Given the description of an element on the screen output the (x, y) to click on. 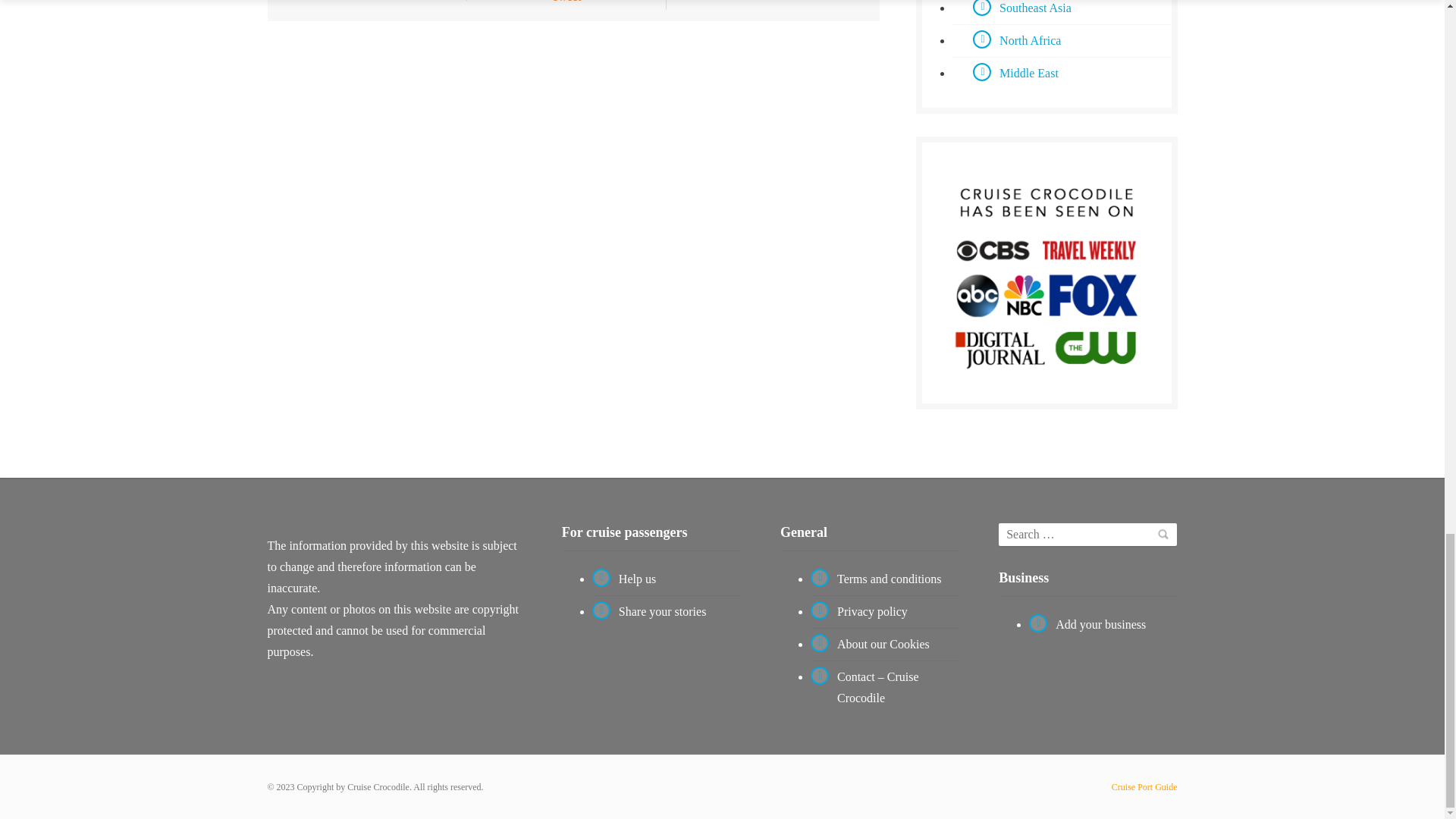
Search for: (1087, 534)
Search (1162, 533)
Search (1162, 533)
